Given the description of an element on the screen output the (x, y) to click on. 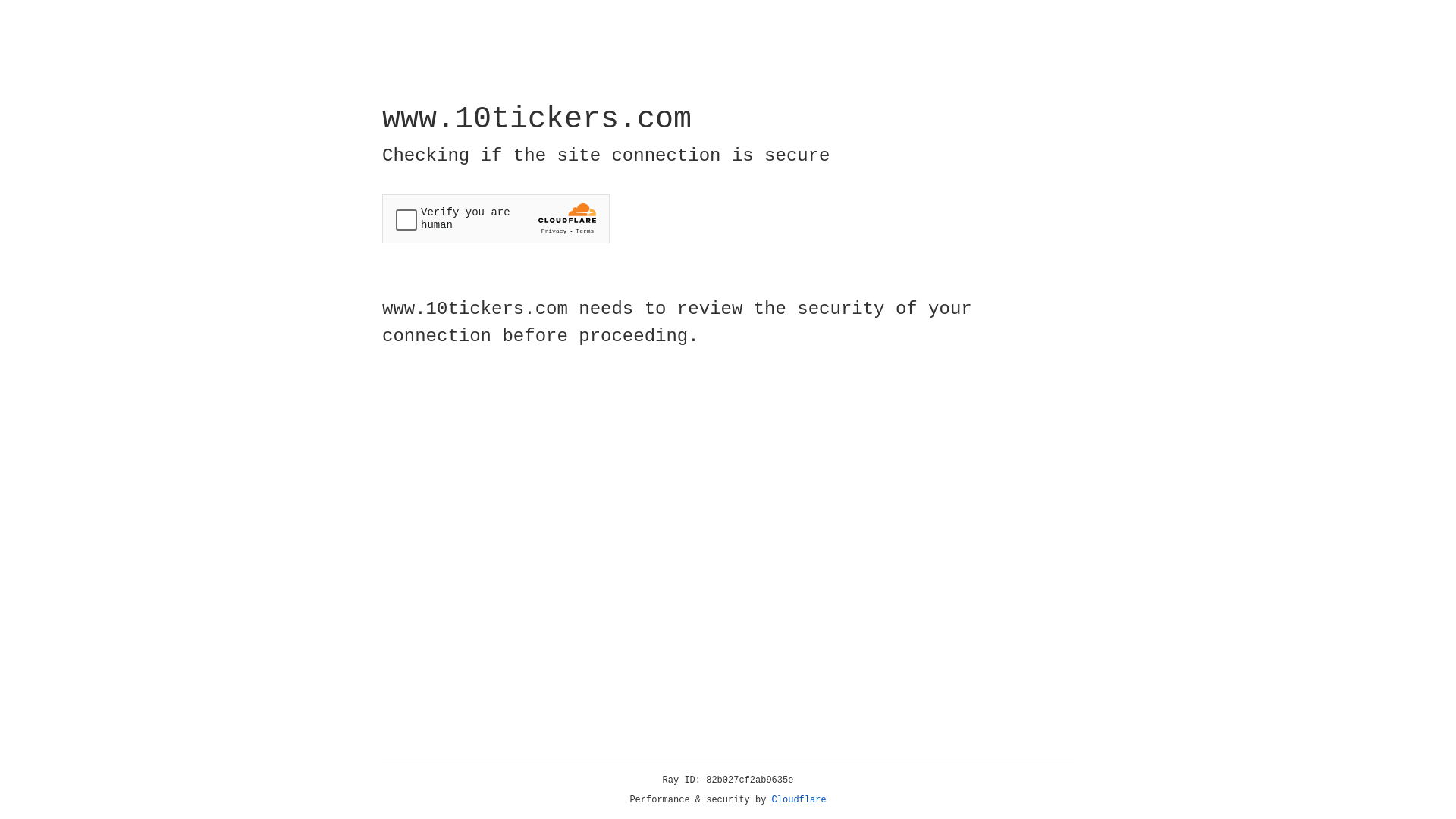
Widget containing a Cloudflare security challenge Element type: hover (495, 218)
Cloudflare Element type: text (798, 799)
